Given the description of an element on the screen output the (x, y) to click on. 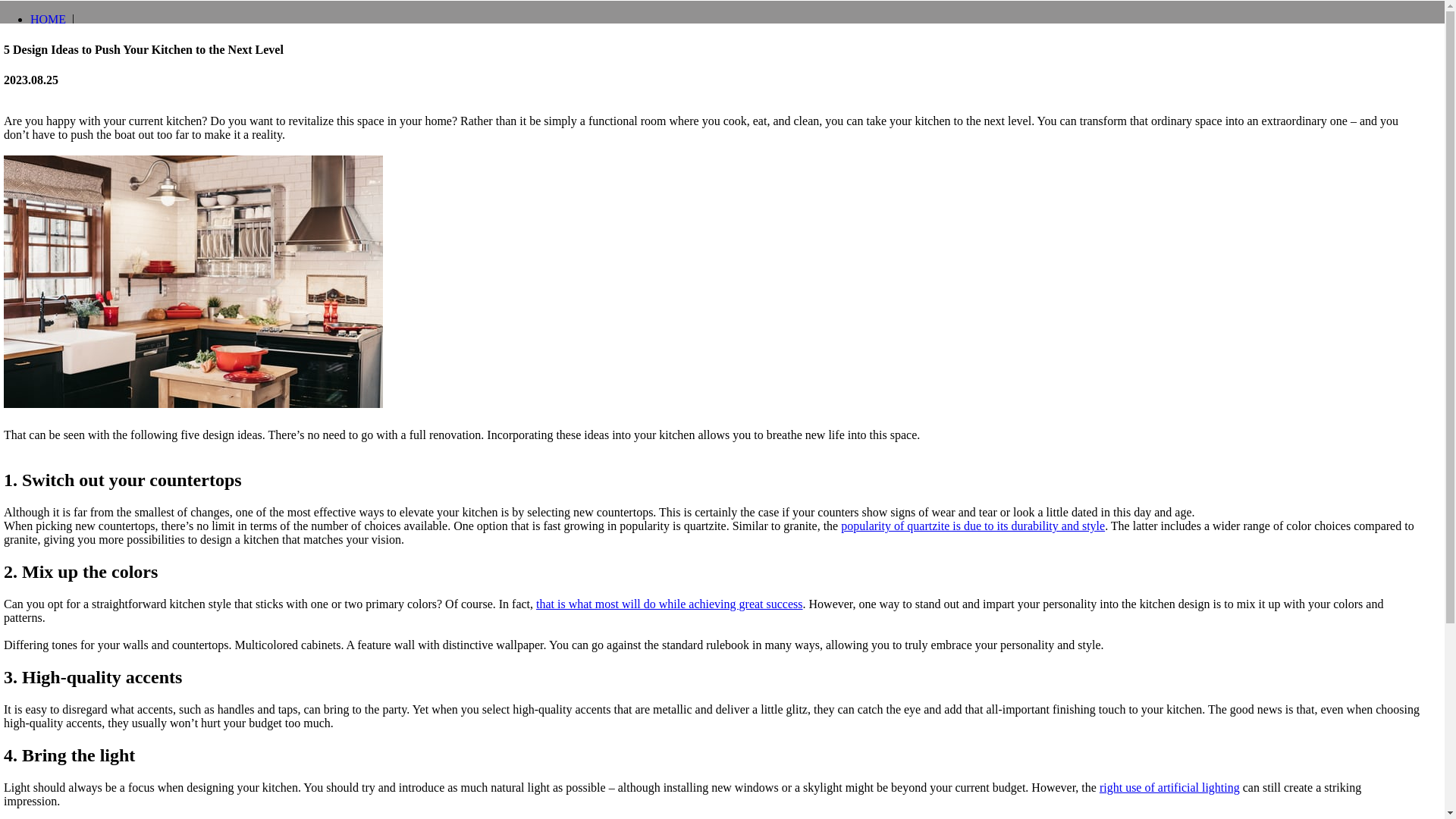
kitchen1.jpeg (195, 283)
popularity of quartzite is due to its durability and style (973, 525)
HOME (47, 19)
right use of artificial lighting (1169, 787)
that is what most will do while achieving great success (668, 603)
